Given the description of an element on the screen output the (x, y) to click on. 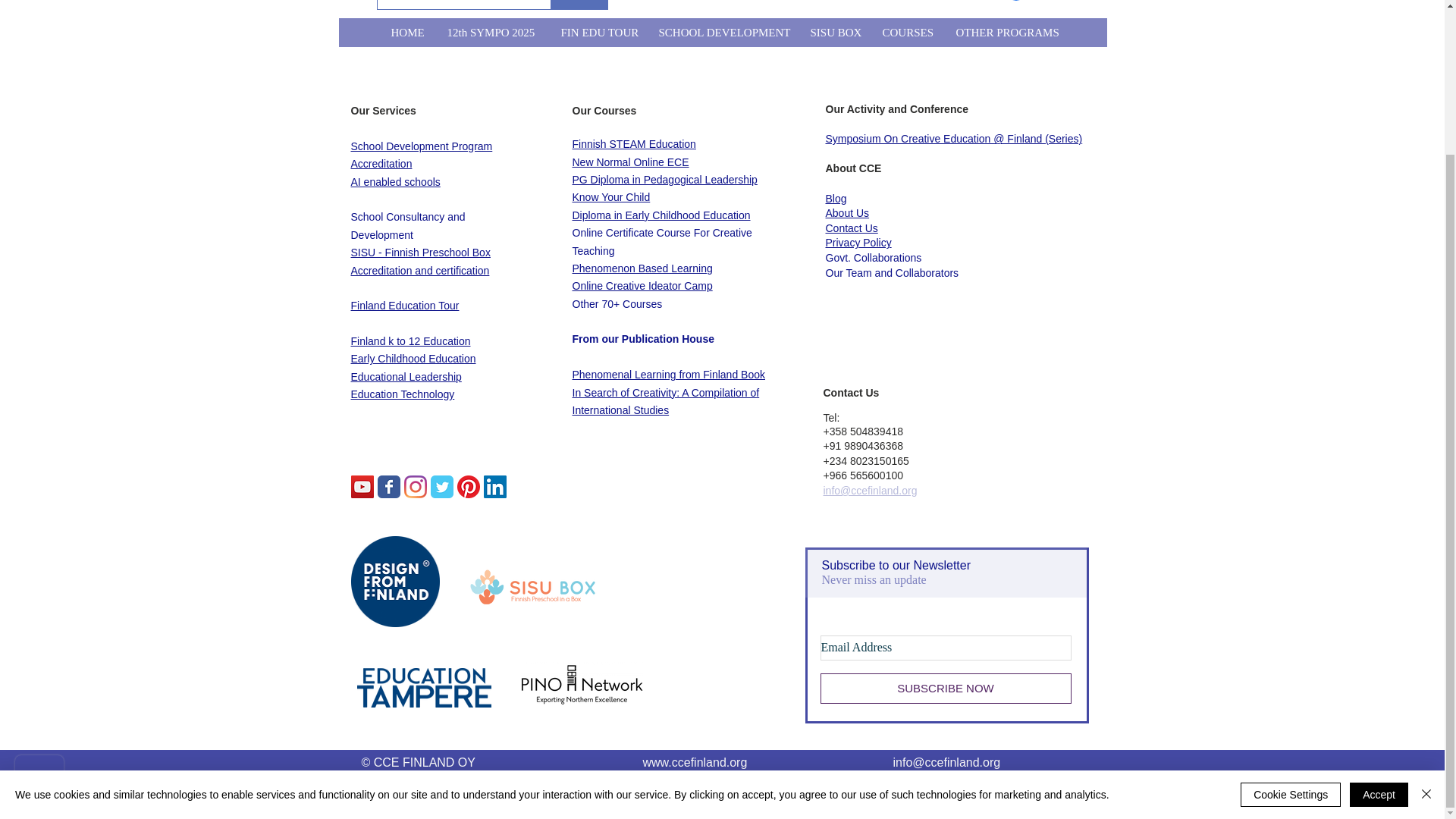
SCHOOL DEVELOPMENT (721, 32)
12th SYMPO 2025 (491, 32)
FIN EDU TOUR (597, 32)
Wix Chat (35, 603)
HOME (406, 32)
SISU BOX (833, 32)
Log In (1037, 2)
